Given the description of an element on the screen output the (x, y) to click on. 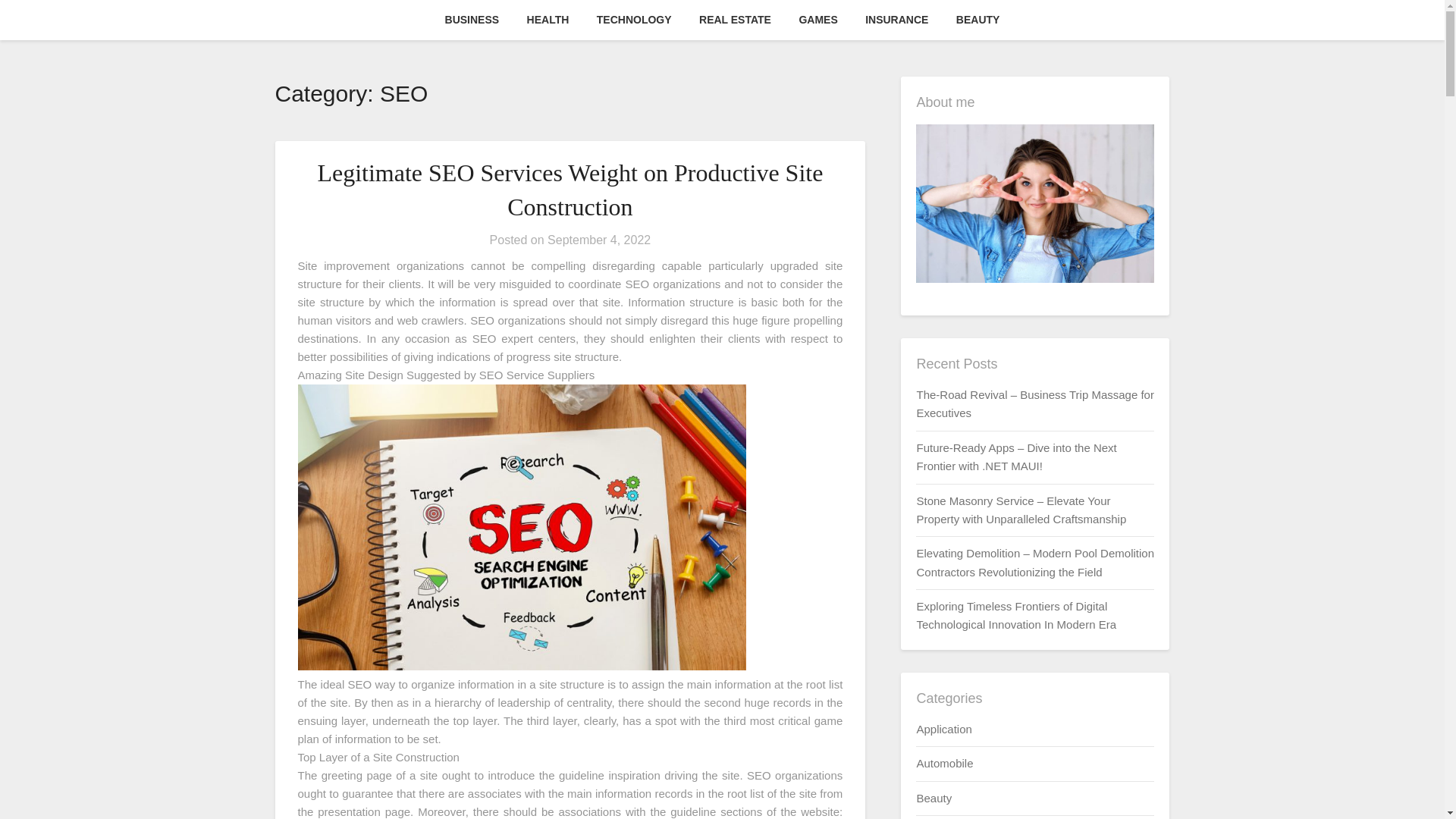
HEALTH (547, 20)
September 4, 2022 (598, 239)
GAMES (817, 20)
INSURANCE (896, 20)
REAL ESTATE (735, 20)
TECHNOLOGY (634, 20)
BUSINESS (472, 20)
BEAUTY (977, 20)
